Given the description of an element on the screen output the (x, y) to click on. 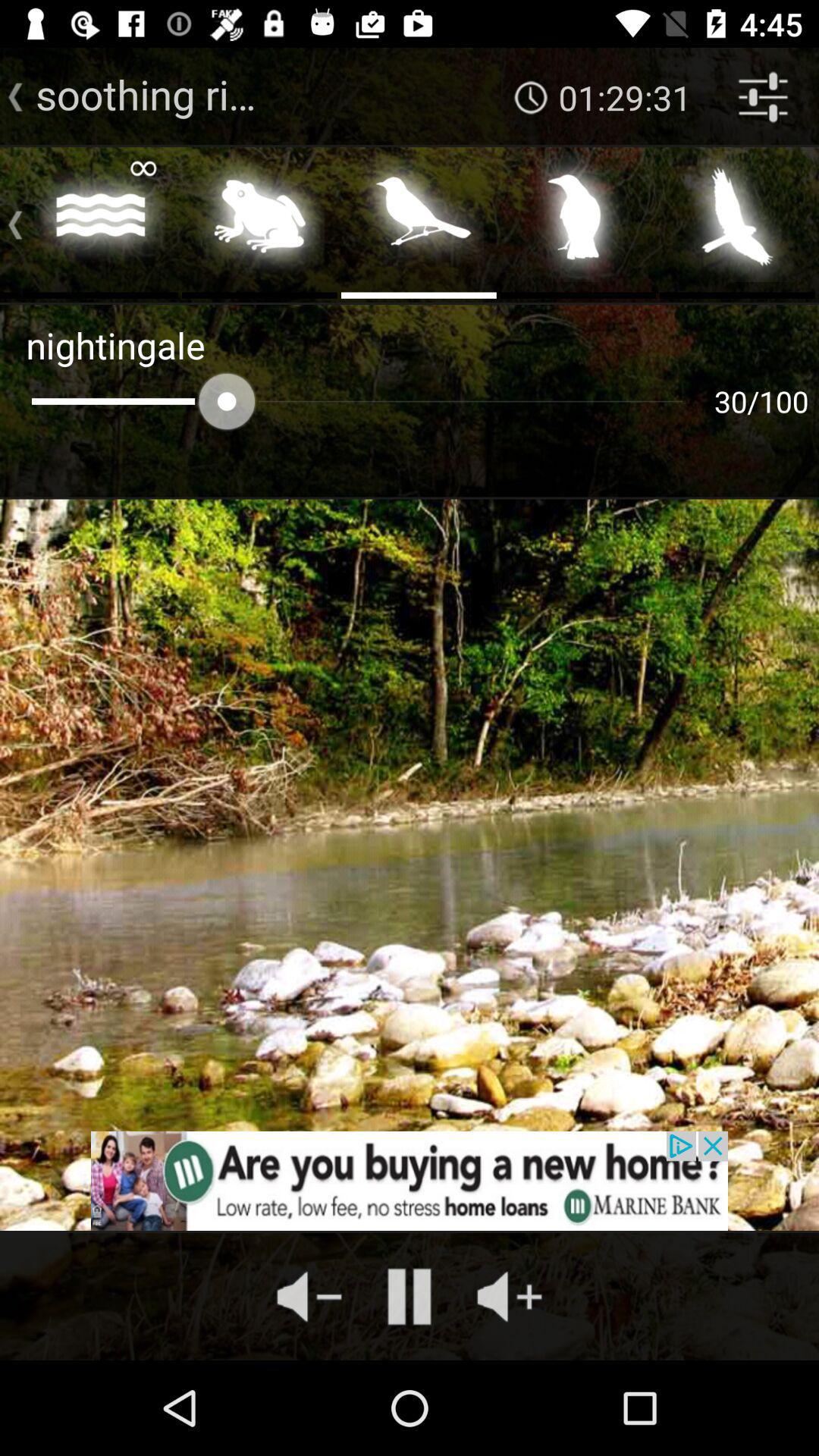
select frog (259, 221)
